Given the description of an element on the screen output the (x, y) to click on. 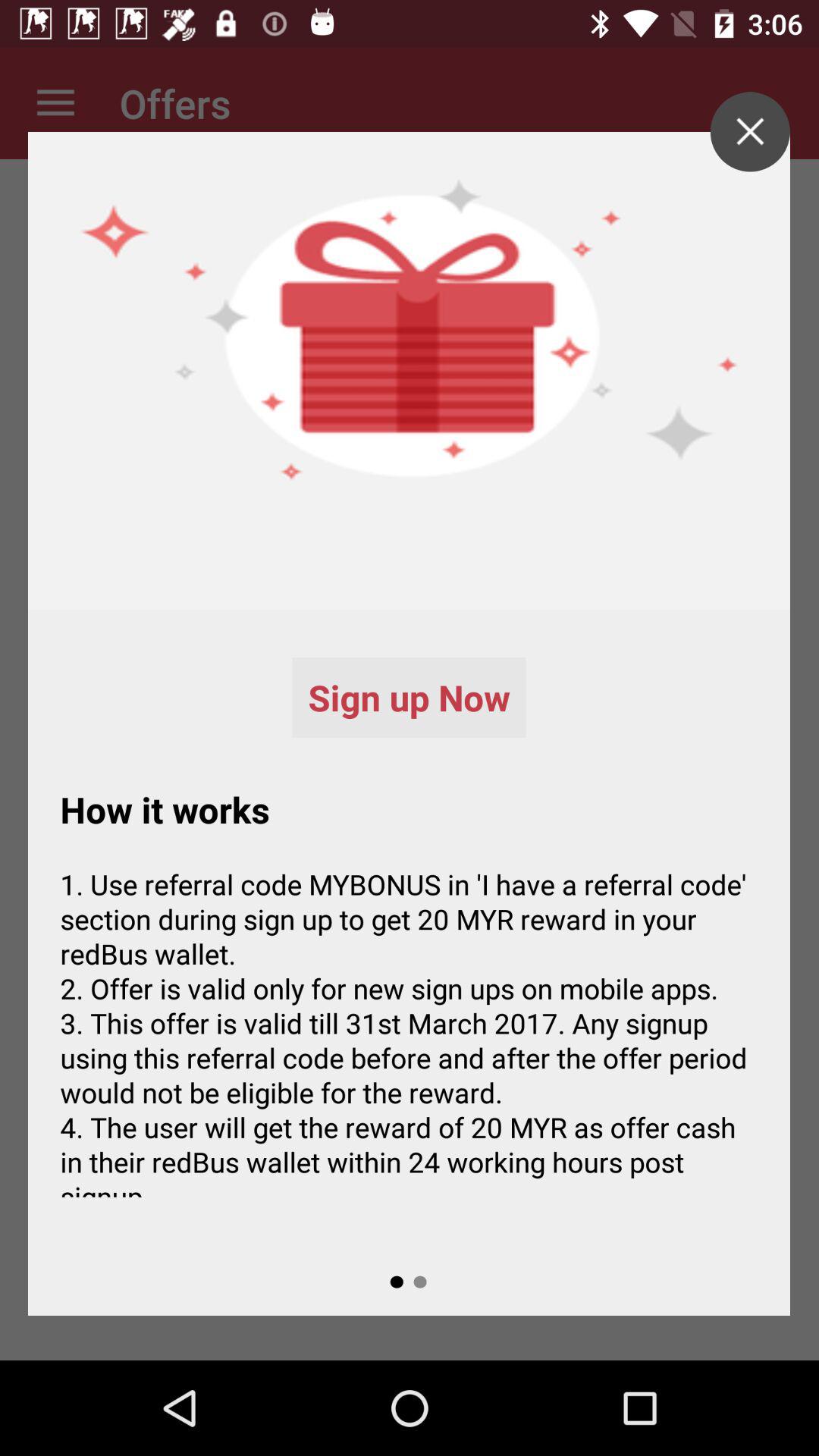
select item above the 1 use referral (749, 131)
